Given the description of an element on the screen output the (x, y) to click on. 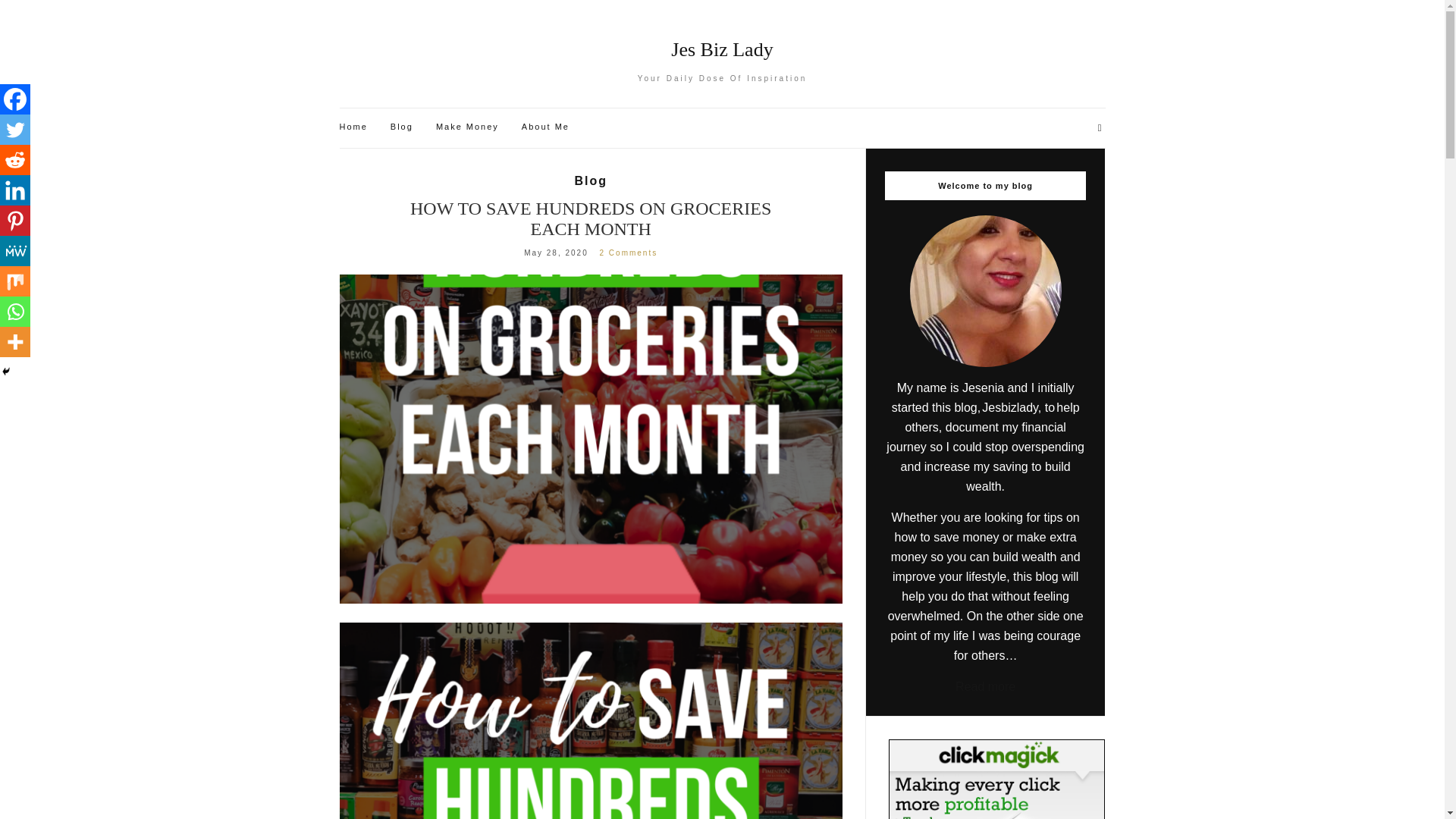
Make Money (467, 127)
About Me (545, 127)
Facebook (15, 99)
Home (353, 127)
Blog (401, 127)
Jes Biz Lady (722, 49)
Blog (590, 180)
Mix (15, 281)
More (15, 341)
Twitter (15, 129)
